Given the description of an element on the screen output the (x, y) to click on. 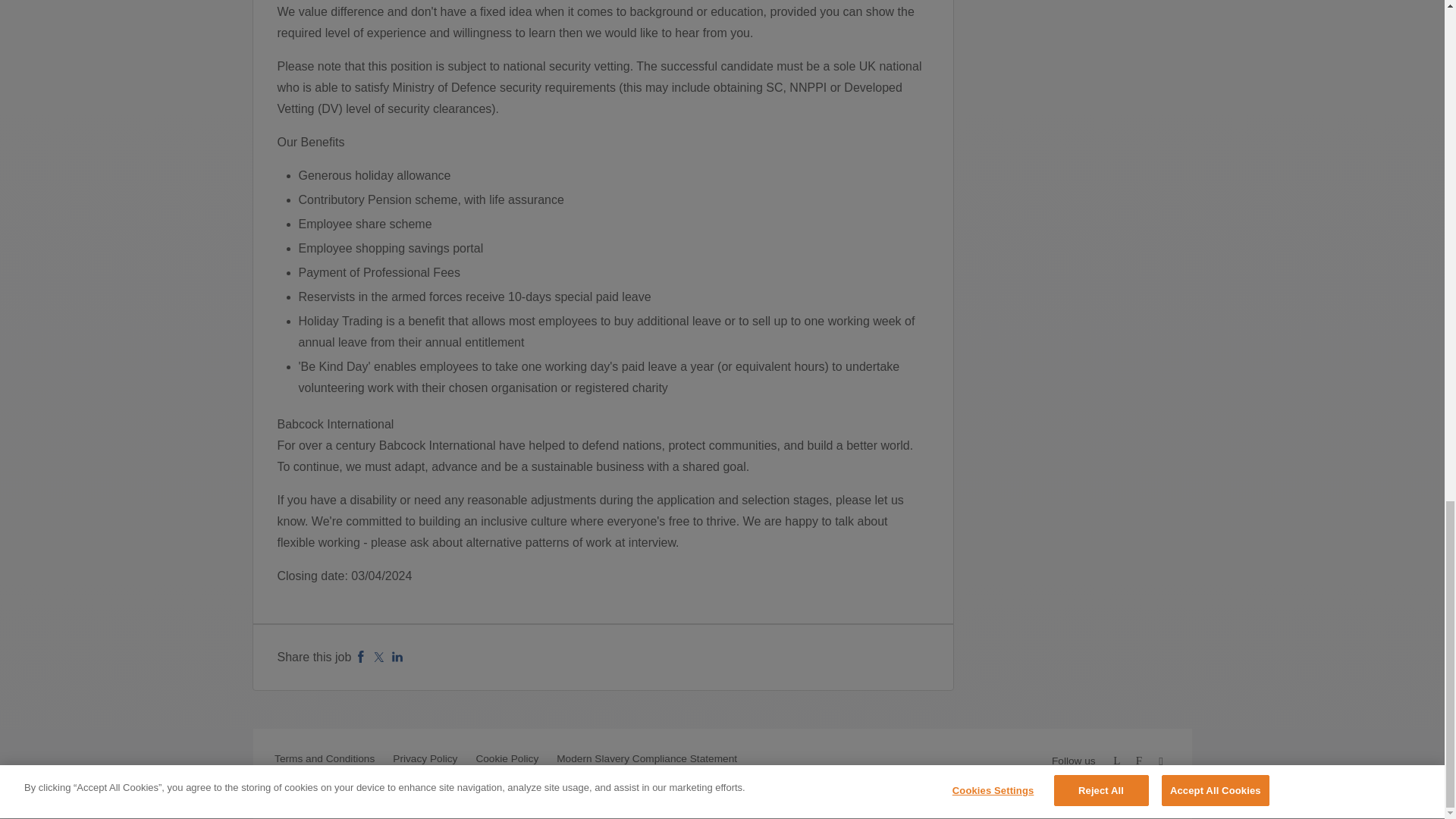
Twitter (378, 656)
LinkedIn (397, 656)
Facebook (360, 656)
